Given the description of an element on the screen output the (x, y) to click on. 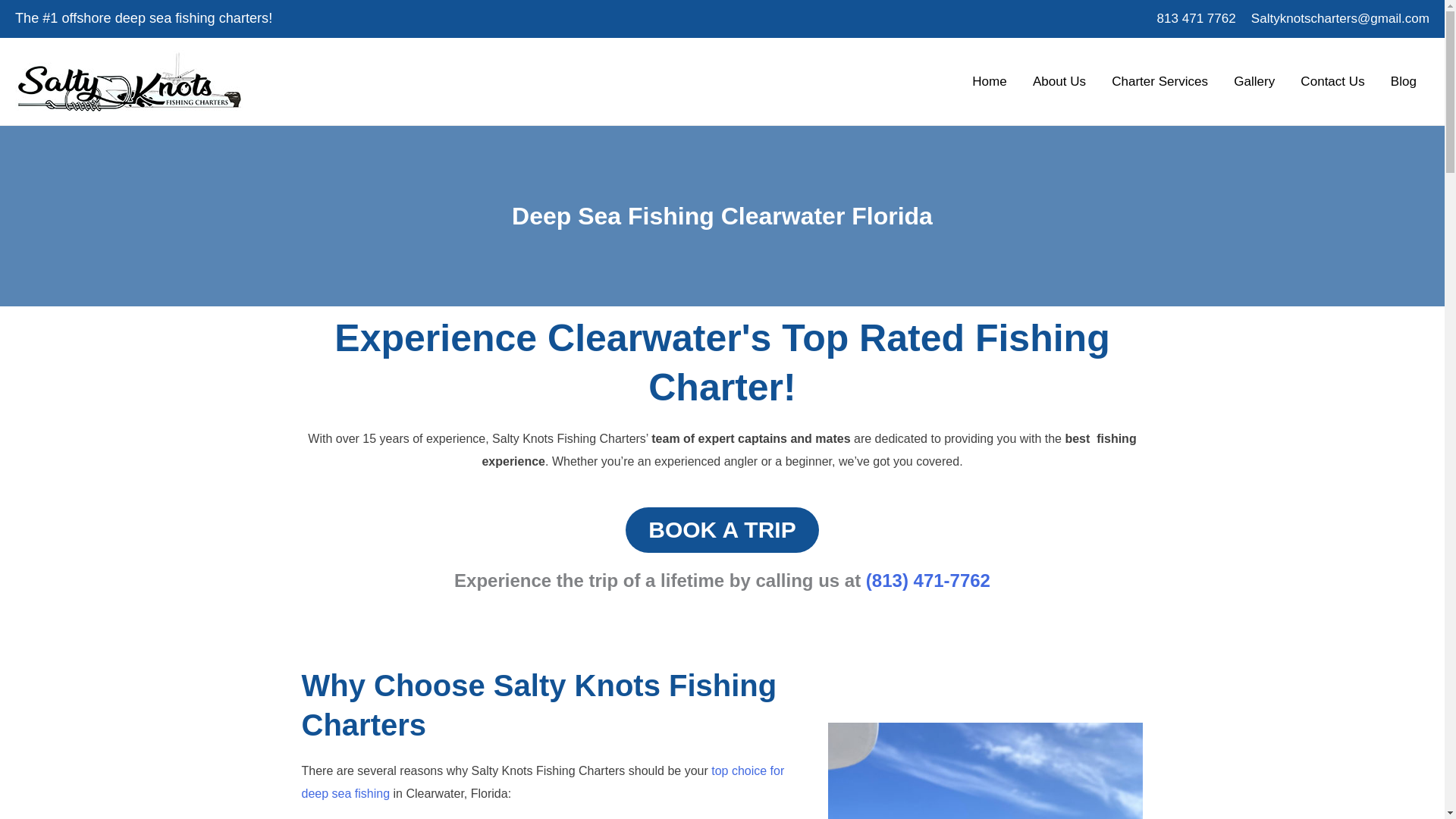
Blog (1403, 80)
top choice for deep sea fishing (542, 782)
Gallery (1254, 80)
BOOK A TRIP (722, 529)
Charter Services (1160, 80)
Contact Us (1332, 80)
About Us (1059, 80)
Home (989, 80)
